Given the description of an element on the screen output the (x, y) to click on. 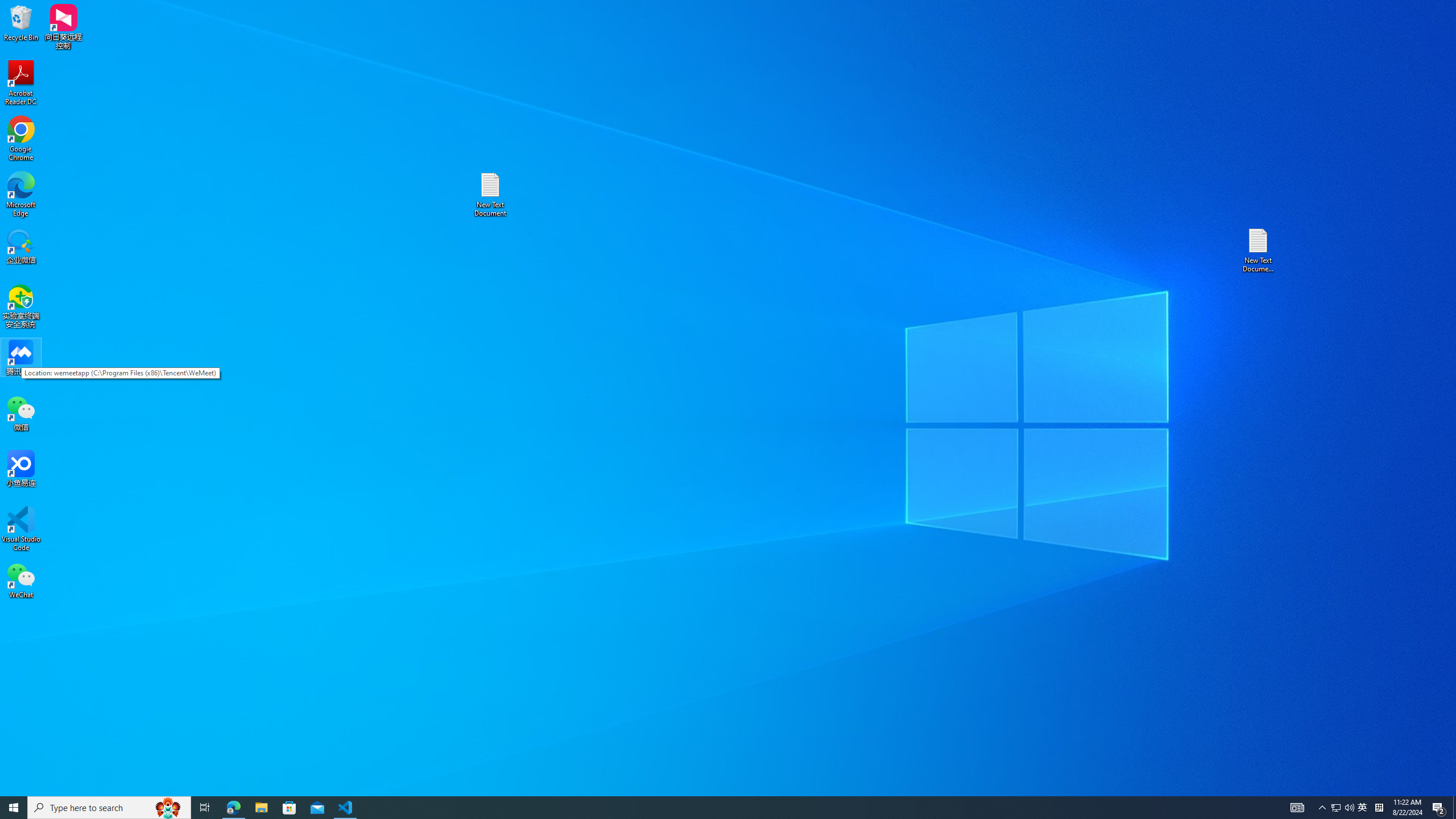
Tray Input Indicator - Chinese (Simplified, China) (1378, 807)
Visual Studio Code (1335, 807)
Running applications (21, 528)
Notification Chevron (1362, 807)
AutomationID: 4105 (707, 807)
Visual Studio Code - 1 running window (1322, 807)
Task View (1297, 807)
Google Chrome (345, 807)
Q2790: 100% (204, 807)
Start (21, 138)
New Text Document (1349, 807)
